Given the description of an element on the screen output the (x, y) to click on. 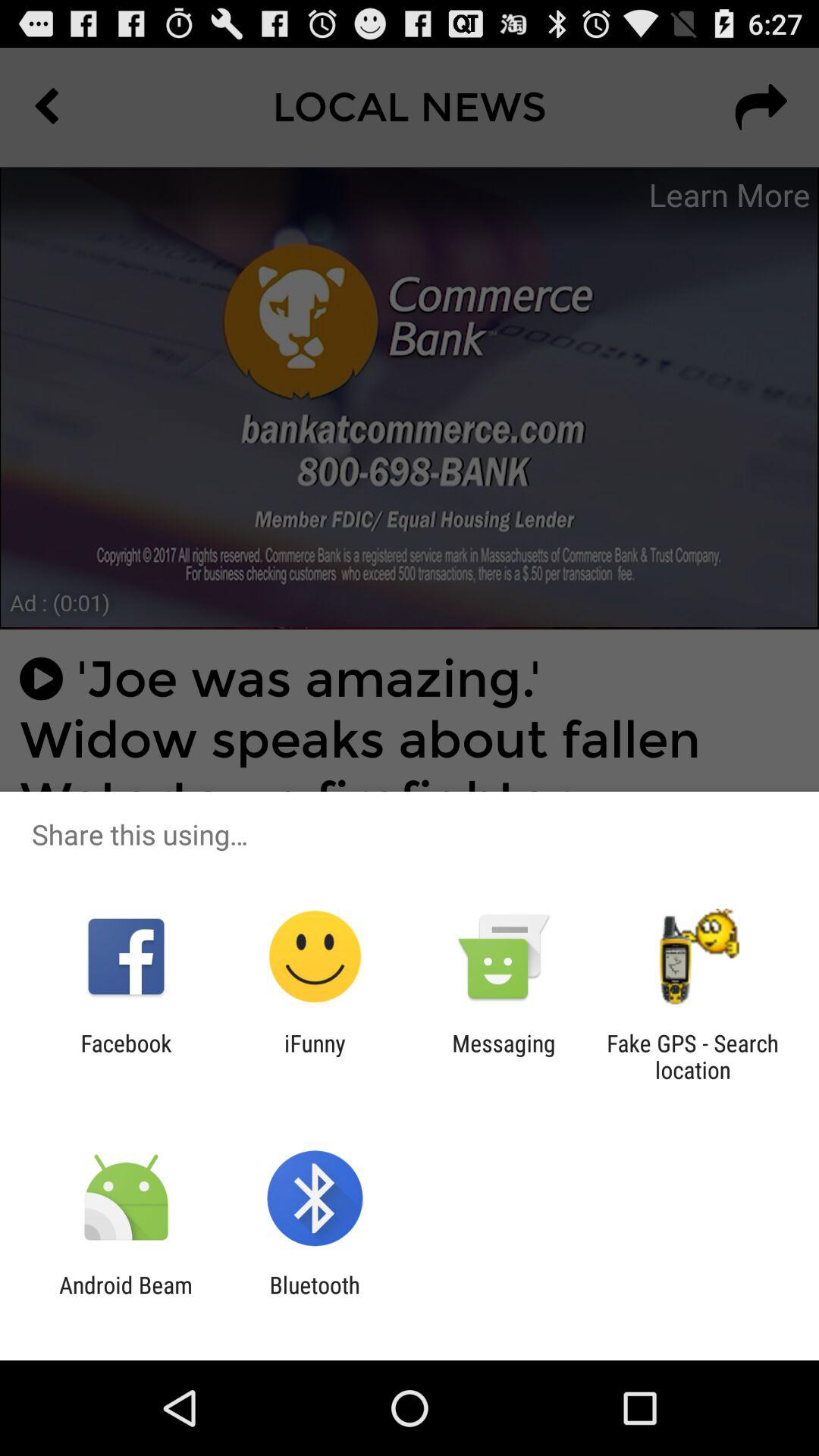
turn off the messaging (503, 1056)
